Given the description of an element on the screen output the (x, y) to click on. 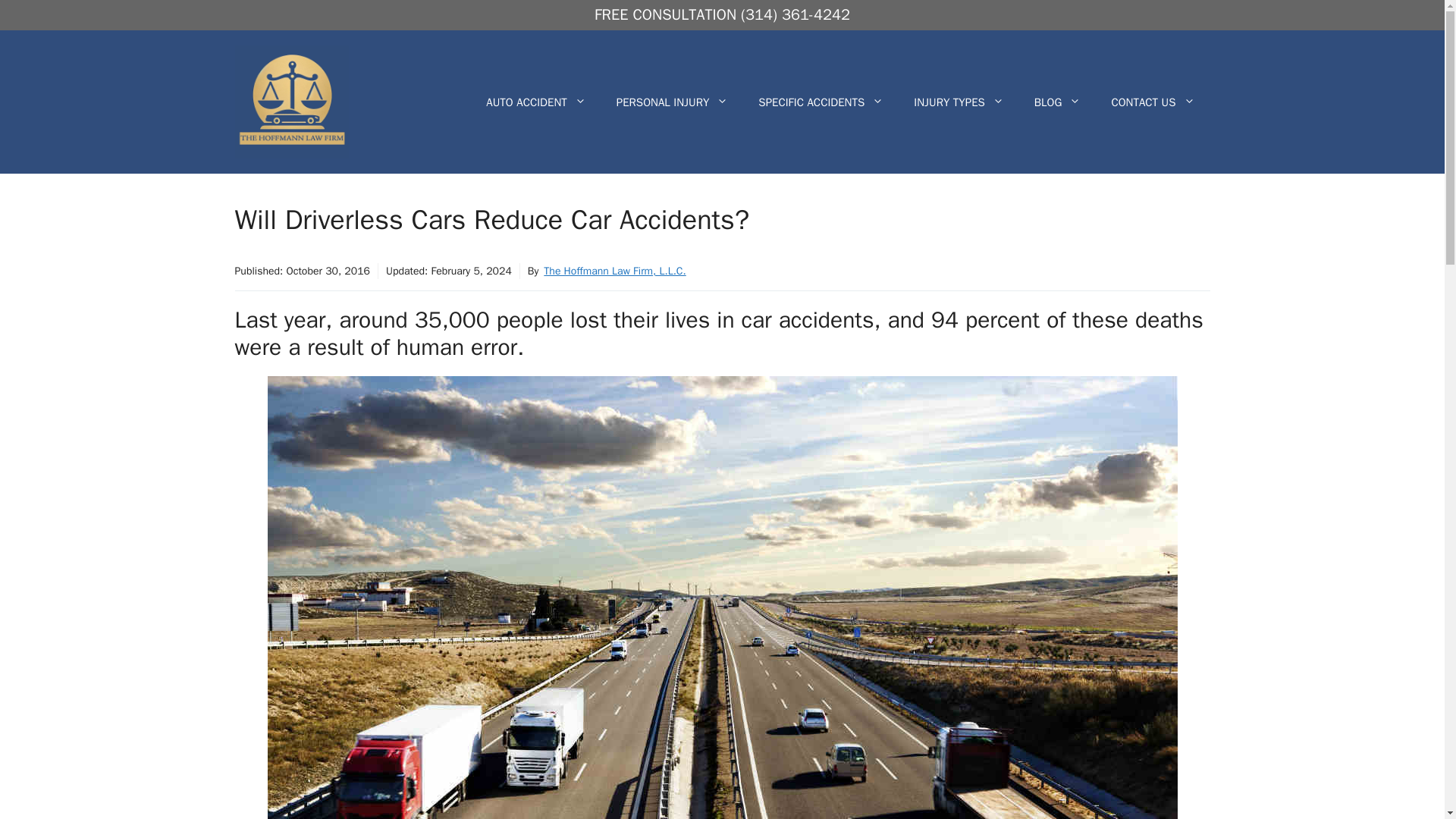
INJURY TYPES (958, 102)
PERSONAL INJURY (672, 102)
AUTO ACCIDENT (534, 102)
SPECIFIC ACCIDENTS (820, 102)
